Given the description of an element on the screen output the (x, y) to click on. 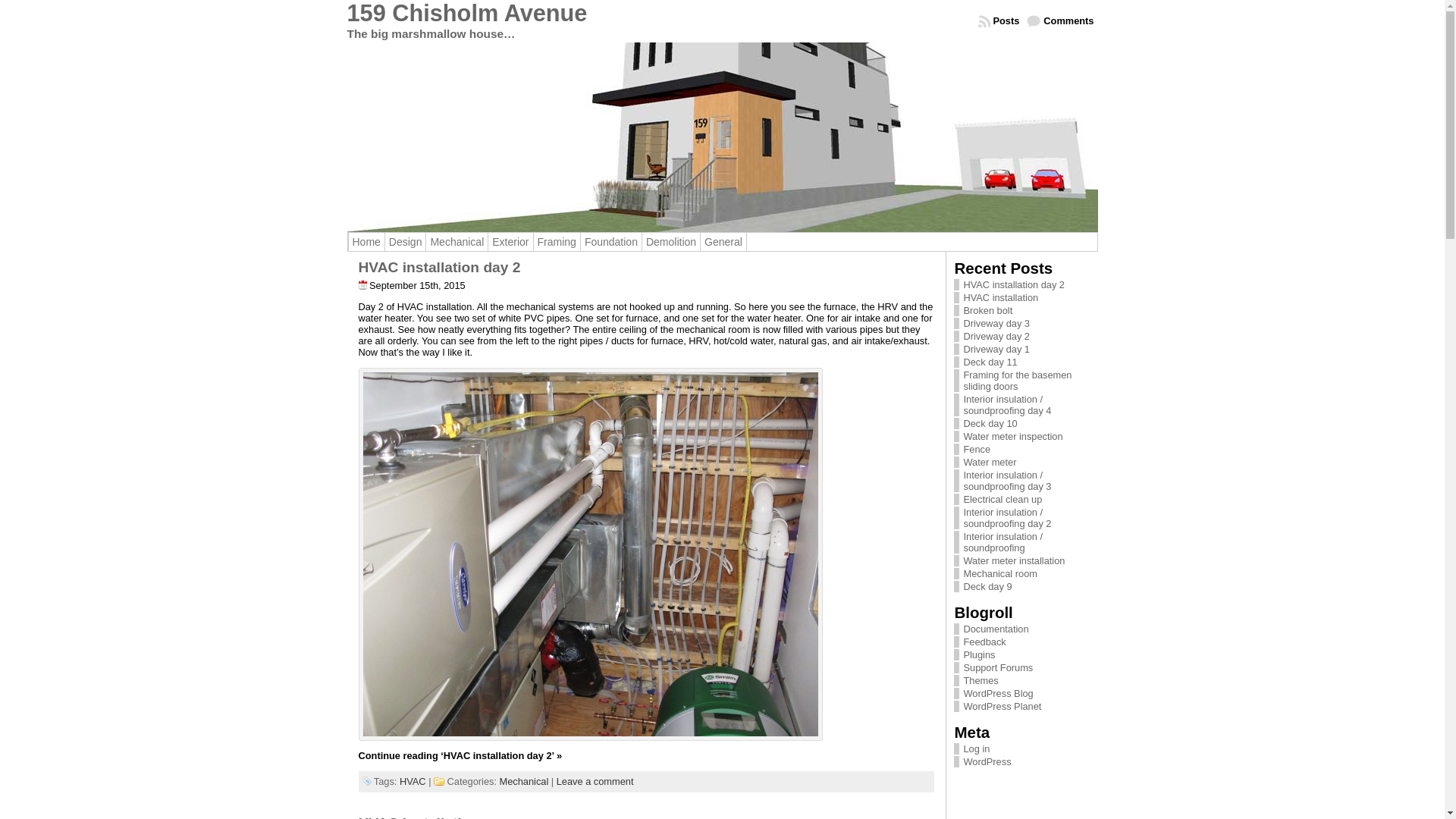
Water meter inspection Element type: text (1012, 436)
Broken bolt Element type: text (987, 310)
WordPress Blog Element type: text (997, 693)
Driveway day 3 Element type: text (996, 323)
Comments Element type: text (1059, 20)
Electrical clean up Element type: text (1002, 499)
Interior insulation / soundproofing Element type: text (1002, 541)
159 Chisholm Avenue Element type: hover (722, 137)
Plugins Element type: text (978, 654)
Foundation Element type: text (611, 241)
Posts Element type: text (998, 20)
HVAC installation day 2 Element type: text (438, 267)
Exterior Element type: text (510, 241)
WordPress Element type: text (986, 761)
Home Element type: text (365, 241)
Deck day 11 Element type: text (989, 361)
Log in Element type: text (976, 748)
Water meter Element type: text (989, 461)
159 Chisholm Avenue Element type: text (467, 13)
Leave a comment Element type: text (594, 781)
Fence Element type: text (976, 449)
Deck day 9 Element type: text (987, 586)
Themes Element type: text (980, 680)
Design Element type: text (405, 241)
Interior insulation / soundproofing day 4 Element type: text (1007, 404)
Mechanical room Element type: text (999, 573)
  Element type: text (722, 137)
General Element type: text (722, 241)
Documentation Element type: text (995, 628)
Deck day 10 Element type: text (989, 423)
Interior insulation / soundproofing day 3 Element type: text (1007, 480)
Interior insulation / soundproofing day 2 Element type: text (1007, 517)
HVAC installation Element type: text (1000, 297)
Mechanical Element type: text (524, 781)
Support Forums Element type: text (997, 667)
Demolition Element type: text (670, 241)
WordPress Planet Element type: text (1002, 706)
Feedback Element type: text (984, 641)
Framing Element type: text (556, 241)
Driveway day 1 Element type: text (996, 348)
Water meter installation Element type: text (1013, 560)
Driveway day 2 Element type: text (996, 336)
Framing for the basemen sliding doors Element type: text (1017, 380)
HVAC installation day 2 Element type: text (1013, 284)
Mechanical Element type: text (456, 241)
HVAC Element type: text (412, 781)
